Given the description of an element on the screen output the (x, y) to click on. 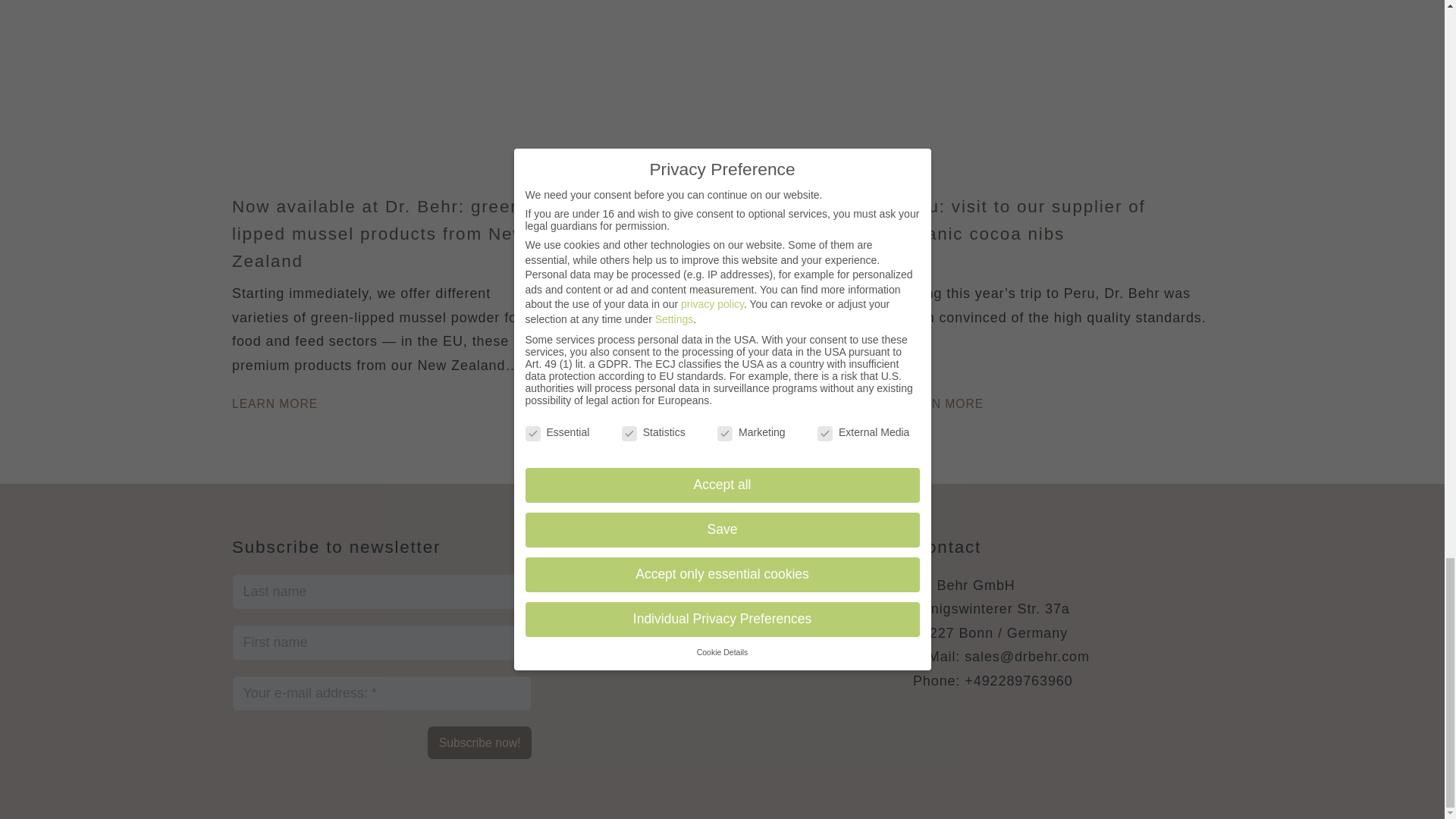
Subscribe now! (479, 742)
